Given the description of an element on the screen output the (x, y) to click on. 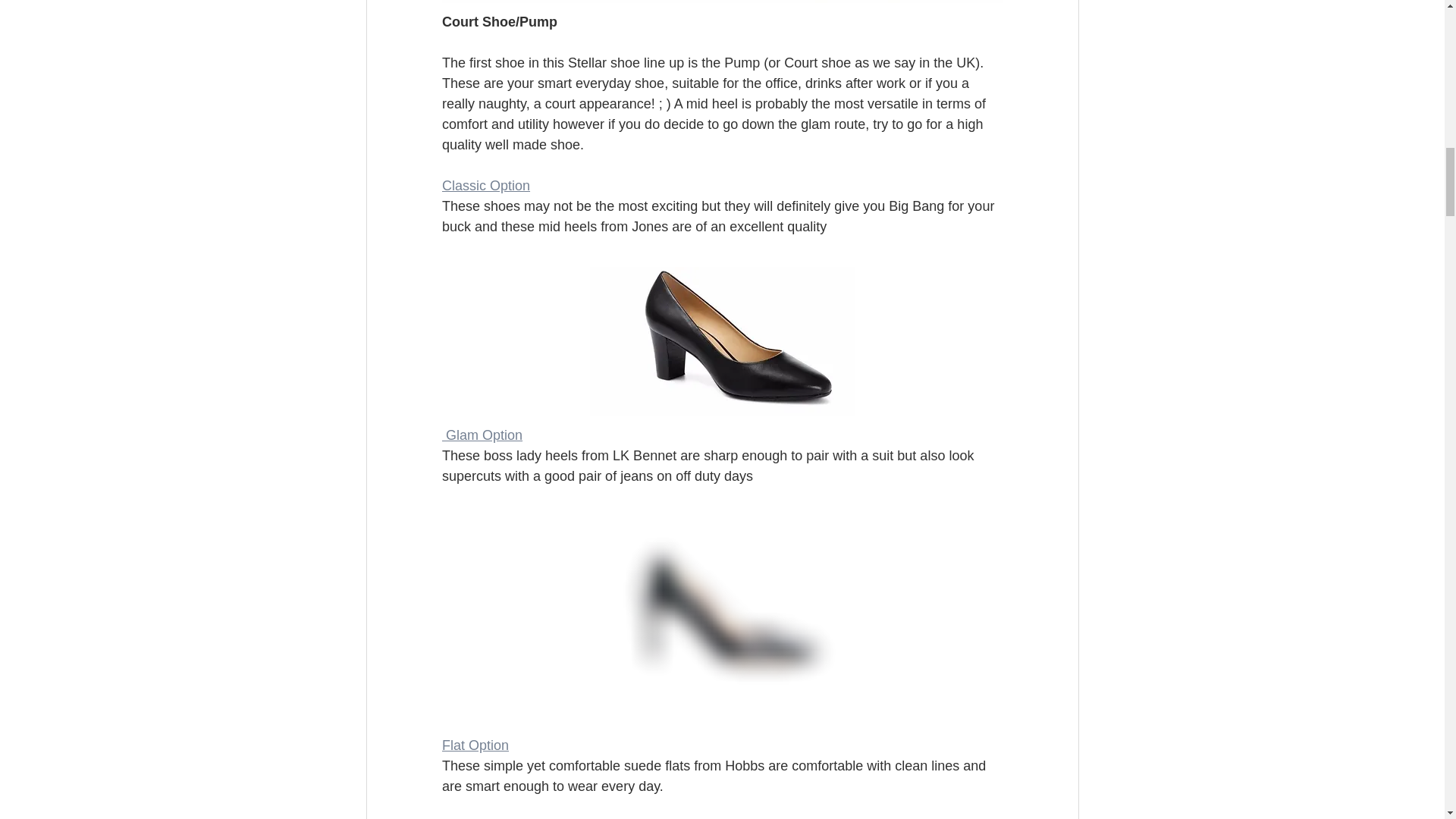
Flat Option (474, 744)
Classic Option (485, 185)
 Glam Option (481, 435)
